Given the description of an element on the screen output the (x, y) to click on. 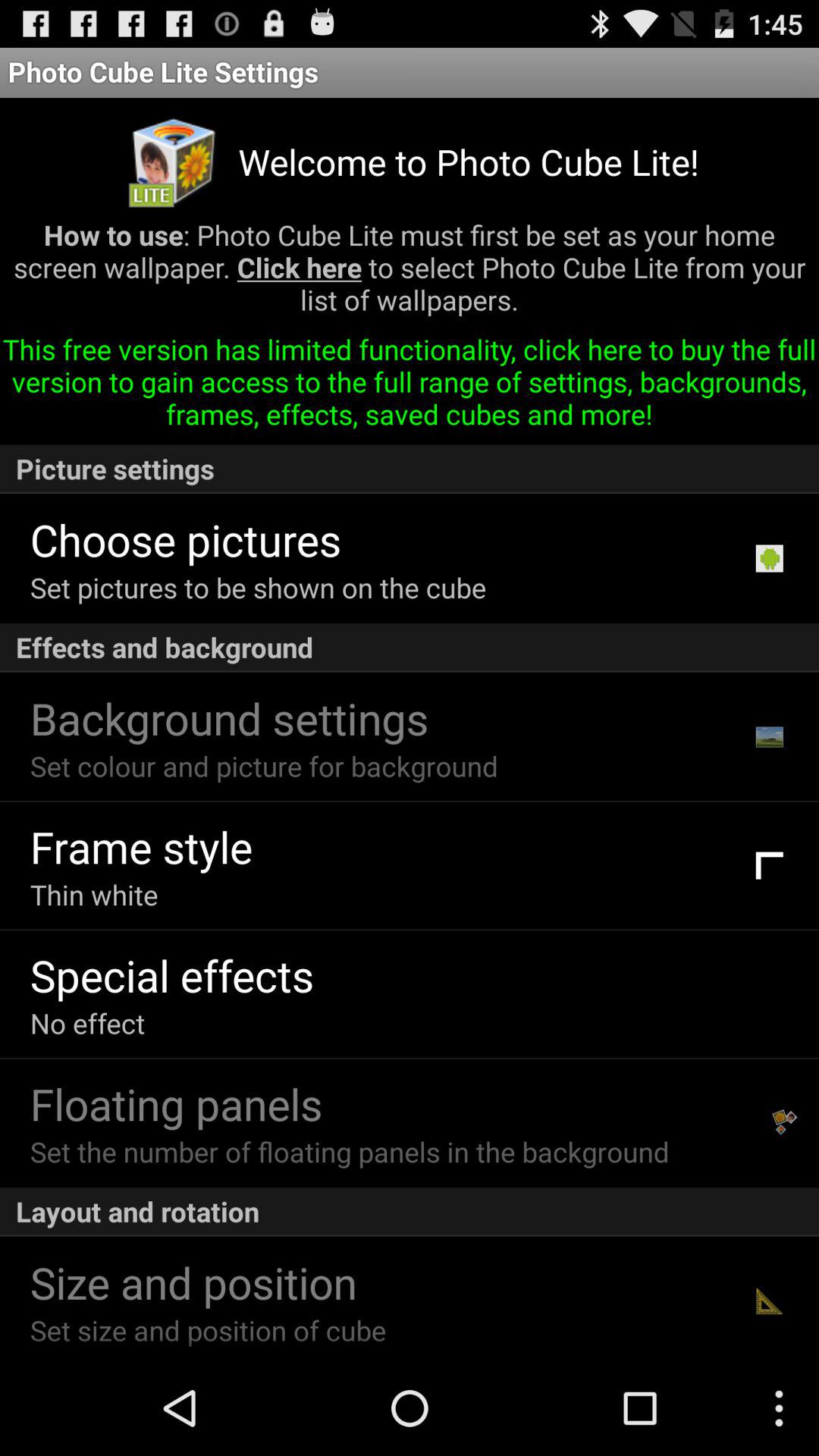
select the image below photo cube lite settings (173, 162)
